Given the description of an element on the screen output the (x, y) to click on. 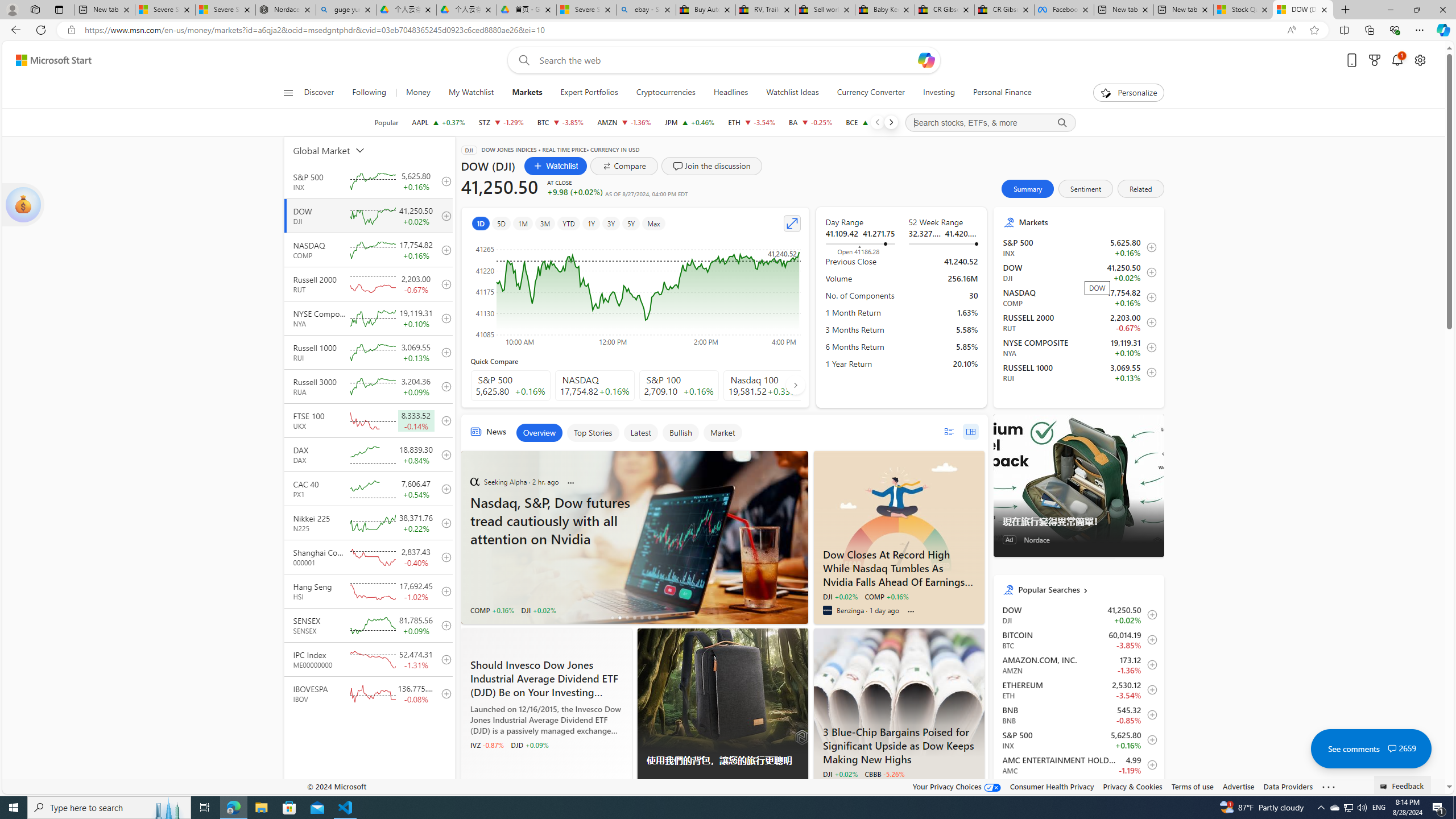
Latest (640, 432)
Investing.com (826, 786)
Headlines (730, 92)
Seeking Alpha (474, 481)
INX S&P 500 increase 5,625.80 +8.96 +0.16% itemundefined (1078, 739)
Next (890, 122)
Top Stories (592, 432)
1D (480, 223)
